Given the description of an element on the screen output the (x, y) to click on. 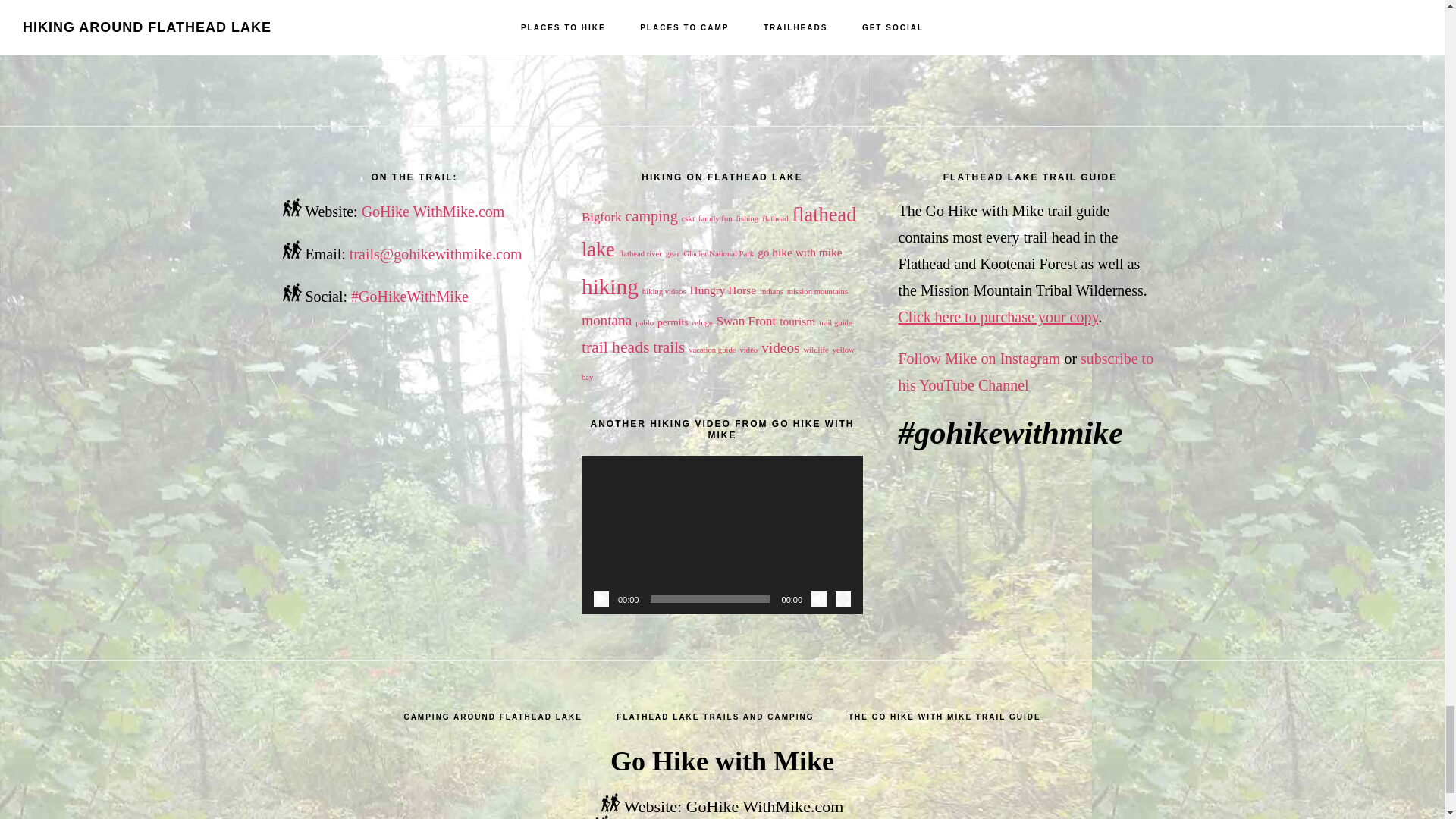
Mute (818, 598)
Play (601, 598)
Fullscreen (842, 598)
